Given the description of an element on the screen output the (x, y) to click on. 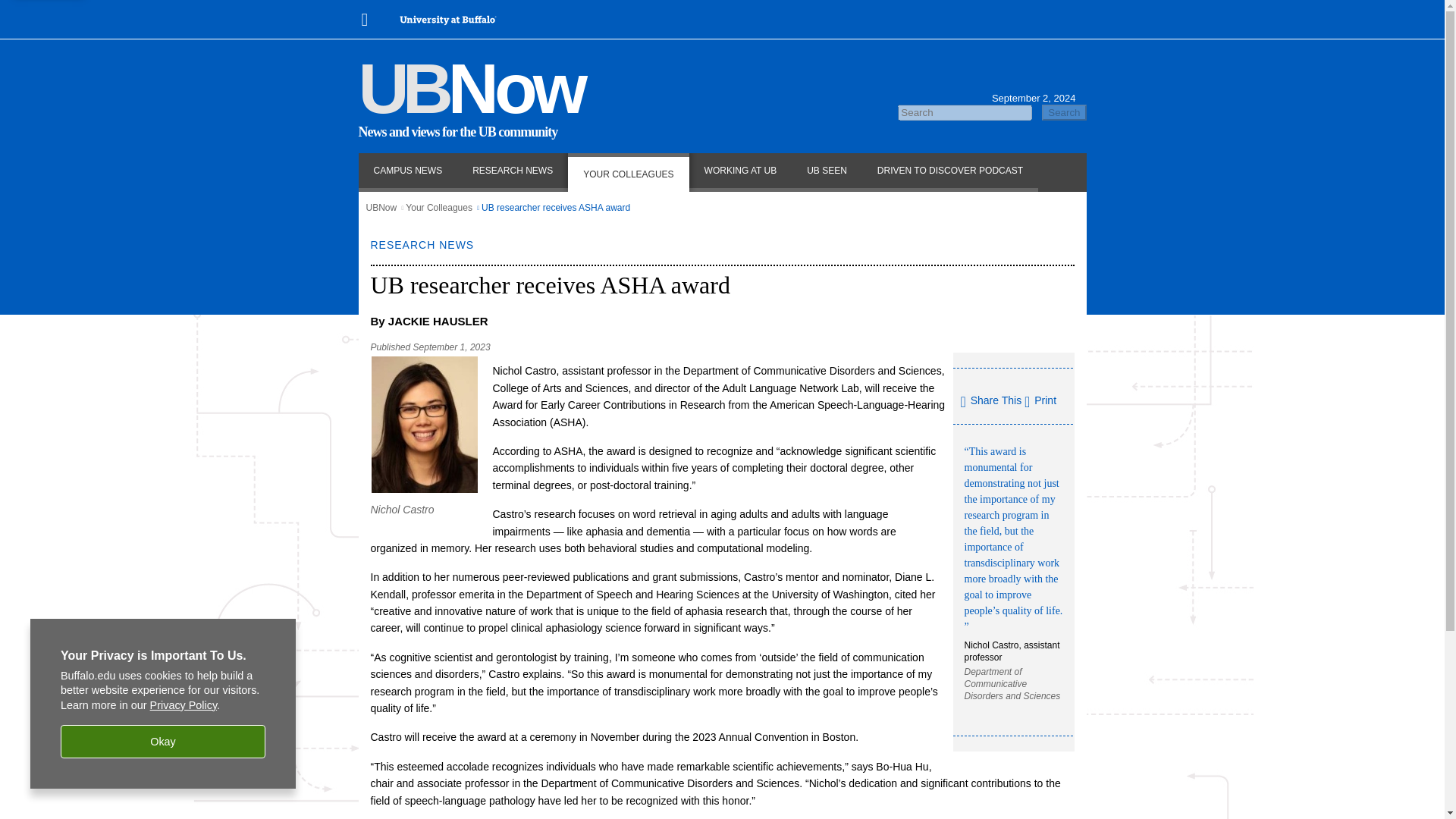
WORKING AT UB (740, 172)
Privacy Policy (182, 705)
Search (1064, 112)
UBNow (380, 207)
CAMPUS NEWS (407, 172)
Search (1064, 112)
YOUR COLLEAGUES (627, 172)
DRIVEN TO DISCOVER PODCAST (949, 172)
RESEARCH NEWS (512, 172)
Print (1041, 399)
